Given the description of an element on the screen output the (x, y) to click on. 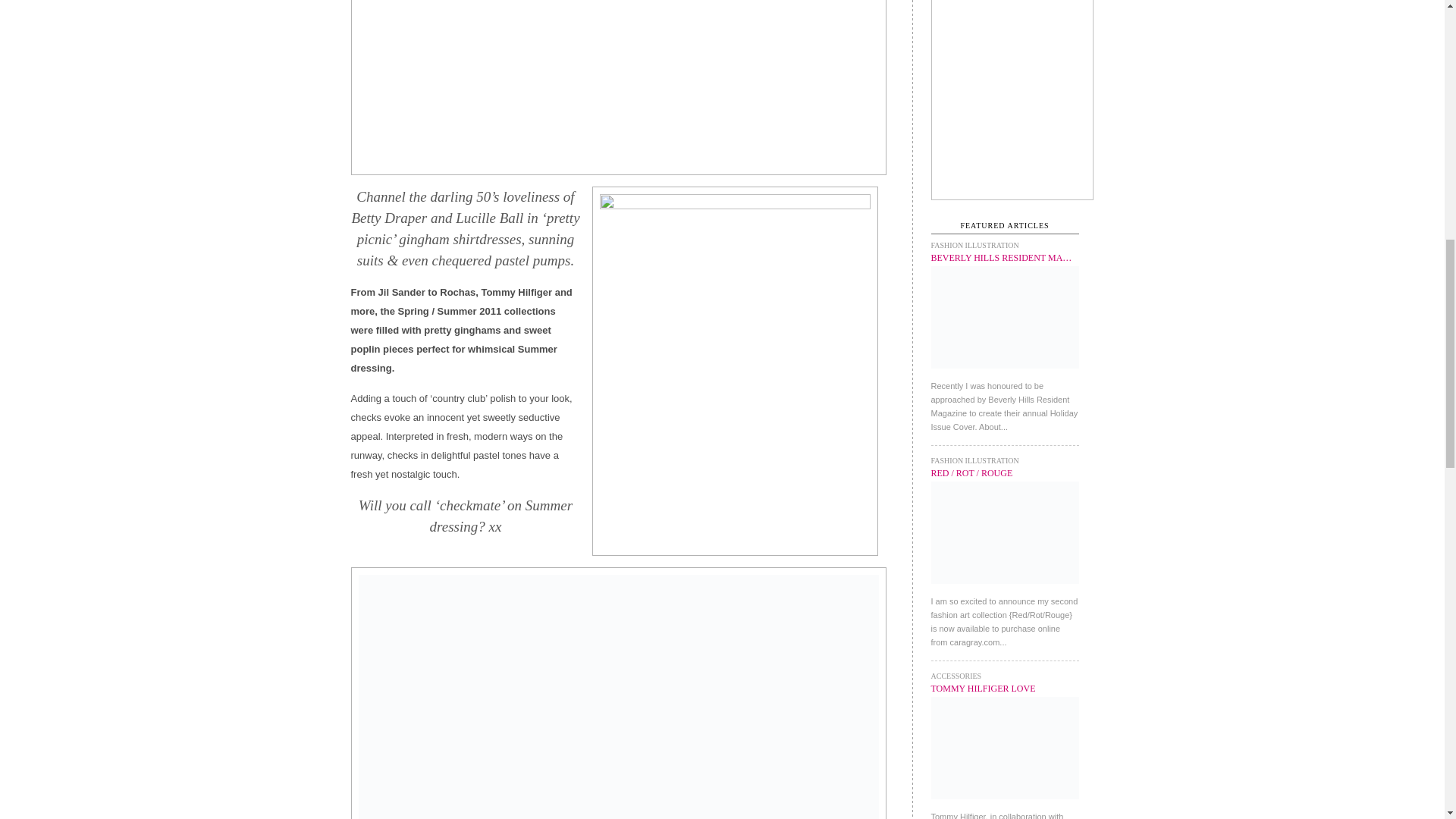
Tommy Hilfiger Love (1004, 803)
Tommy Hilfiger Love (983, 688)
Beverly Hills Resident Magazine (1004, 372)
Beverly Hills Resident Magazine (1001, 257)
